Given the description of an element on the screen output the (x, y) to click on. 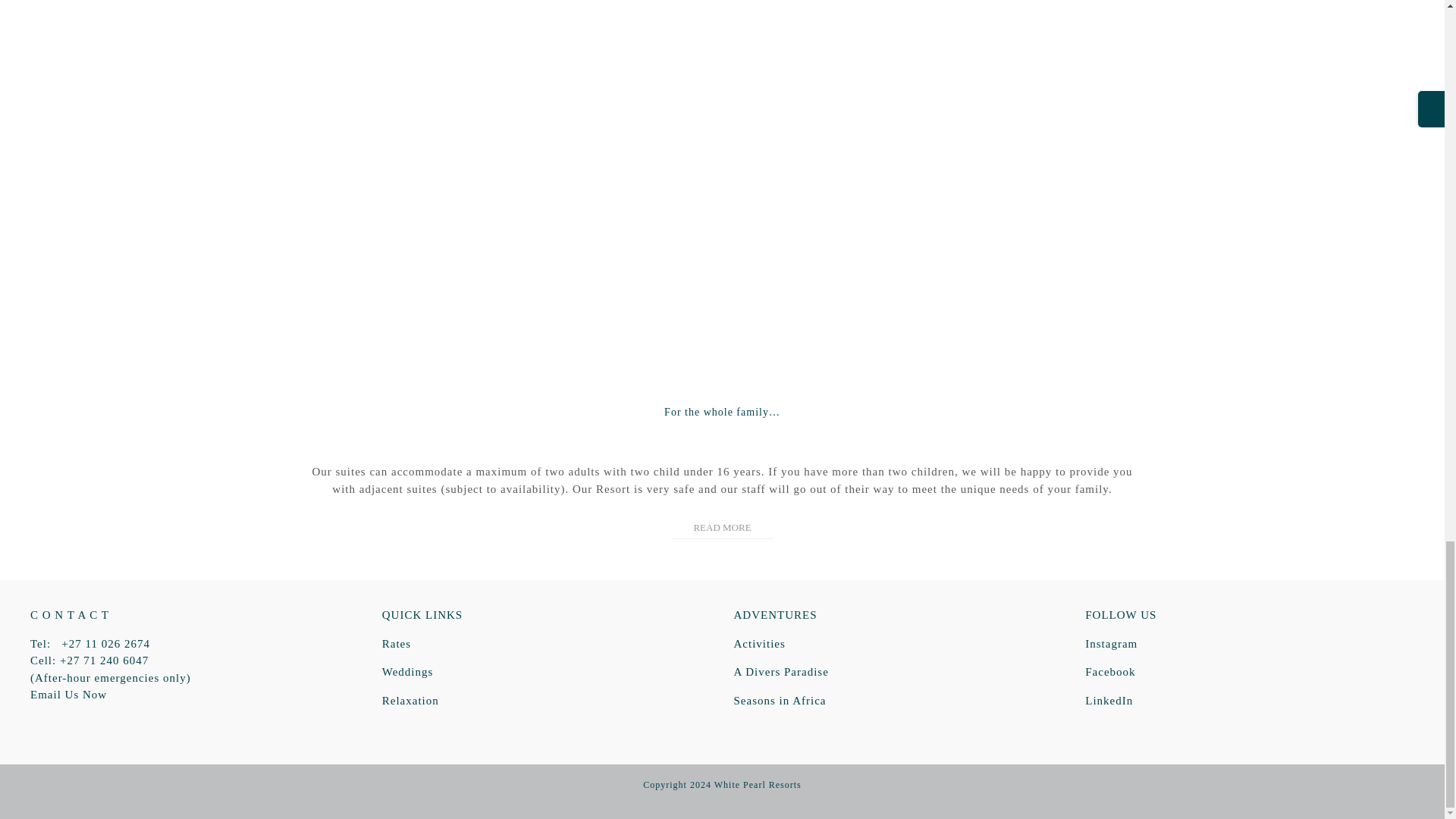
READ MORE (722, 527)
A Divers Paradise (780, 671)
WHITE-PEARL (721, 339)
Email Us Now (68, 694)
Activities (759, 643)
Instagram (1110, 643)
Weddings (407, 671)
Relaxation (410, 700)
LinkedIn (1108, 700)
Seasons in Africa (780, 700)
Facebook (1109, 671)
Rates (395, 643)
